Given the description of an element on the screen output the (x, y) to click on. 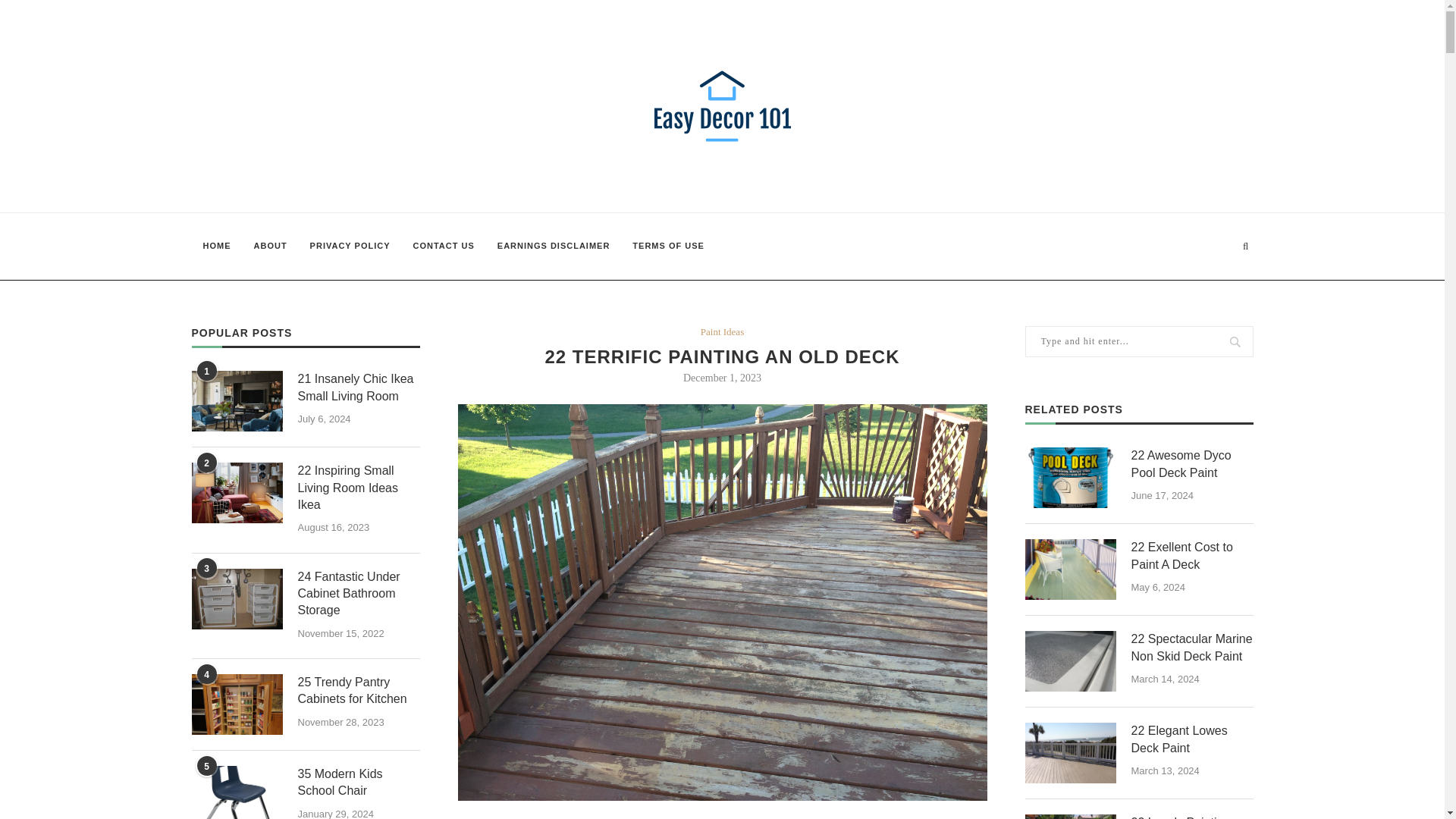
PRIVACY POLICY (349, 246)
TERMS OF USE (668, 246)
Paint Ideas (722, 331)
CONTACT US (443, 246)
EARNINGS DISCLAIMER (553, 246)
